Given the description of an element on the screen output the (x, y) to click on. 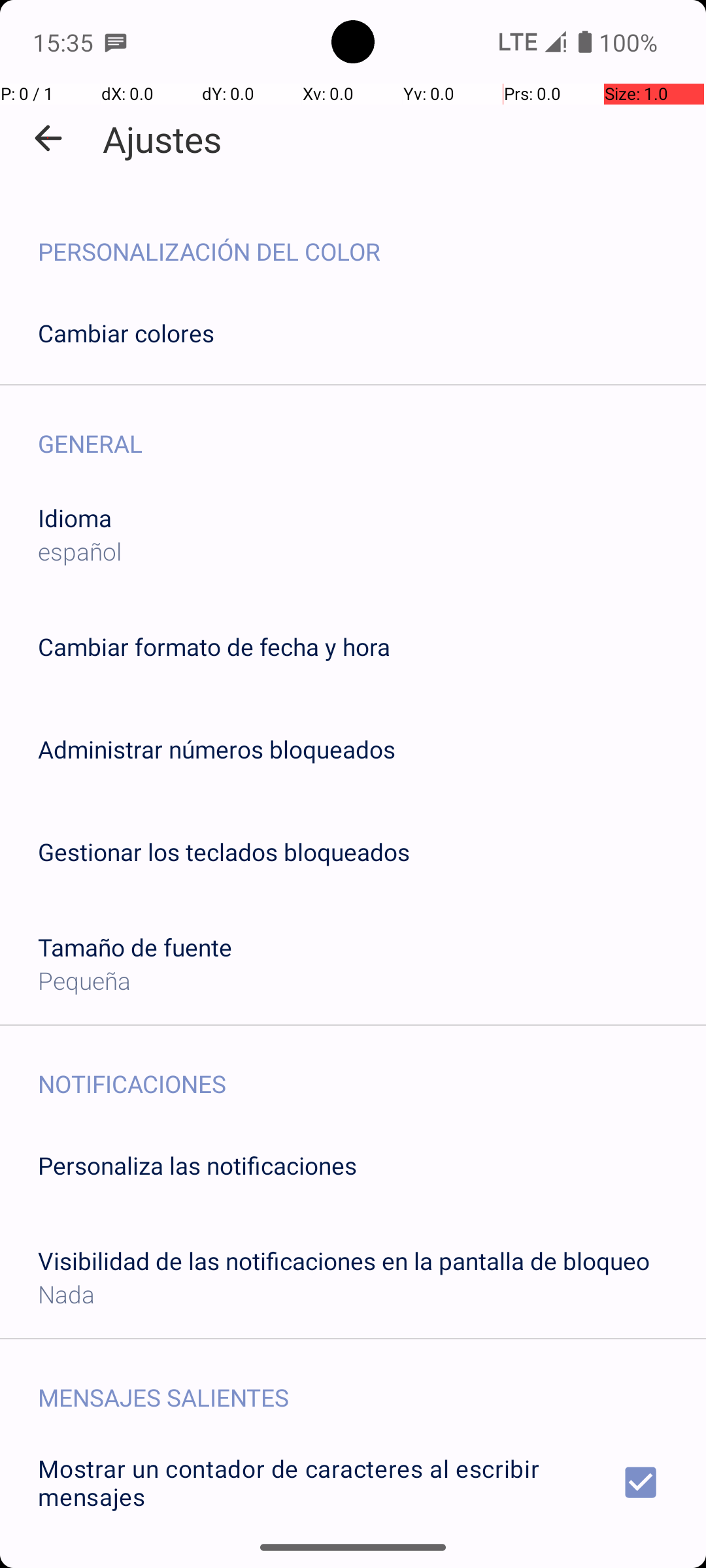
NOTIFICACIONES Element type: android.widget.TextView (371, 1069)
MENSAJES SALIENTES Element type: android.widget.TextView (371, 1383)
Cambiar formato de fecha y hora Element type: android.widget.TextView (213, 646)
Administrar números bloqueados Element type: android.widget.TextView (216, 748)
Gestionar los teclados bloqueados Element type: android.widget.TextView (223, 851)
Tamaño de fuente Element type: android.widget.TextView (134, 946)
Pequeña Element type: android.widget.TextView (83, 979)
Visibilidad de las notificaciones en la pantalla de bloqueo Element type: android.widget.TextView (343, 1260)
Nada Element type: android.widget.TextView (65, 1293)
Mostrar un contador de caracteres al escribir mensajes Element type: android.widget.CheckBox (352, 1482)
Elimina los acentos y signos diacríticos al enviar mensajes Element type: android.widget.CheckBox (352, 1559)
